Given the description of an element on the screen output the (x, y) to click on. 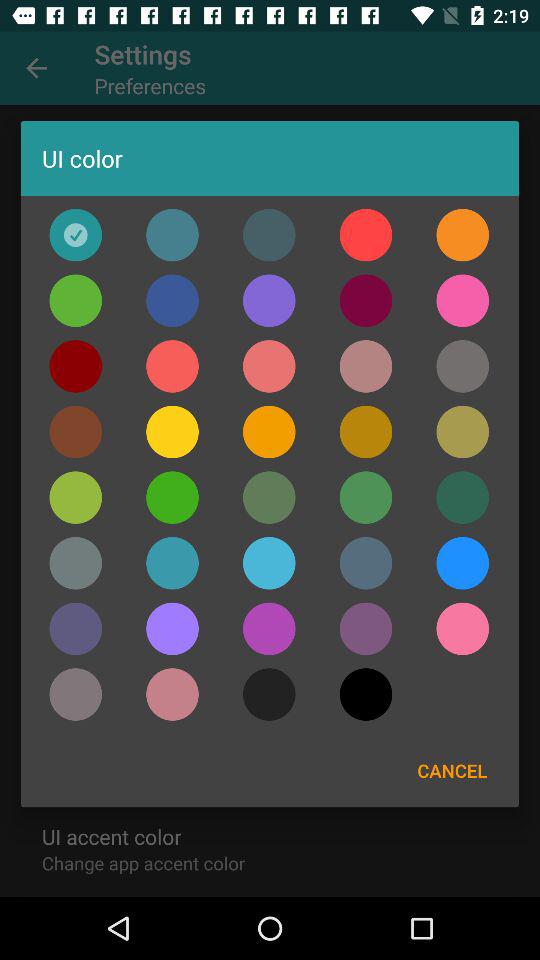
select gray (365, 563)
